Given the description of an element on the screen output the (x, y) to click on. 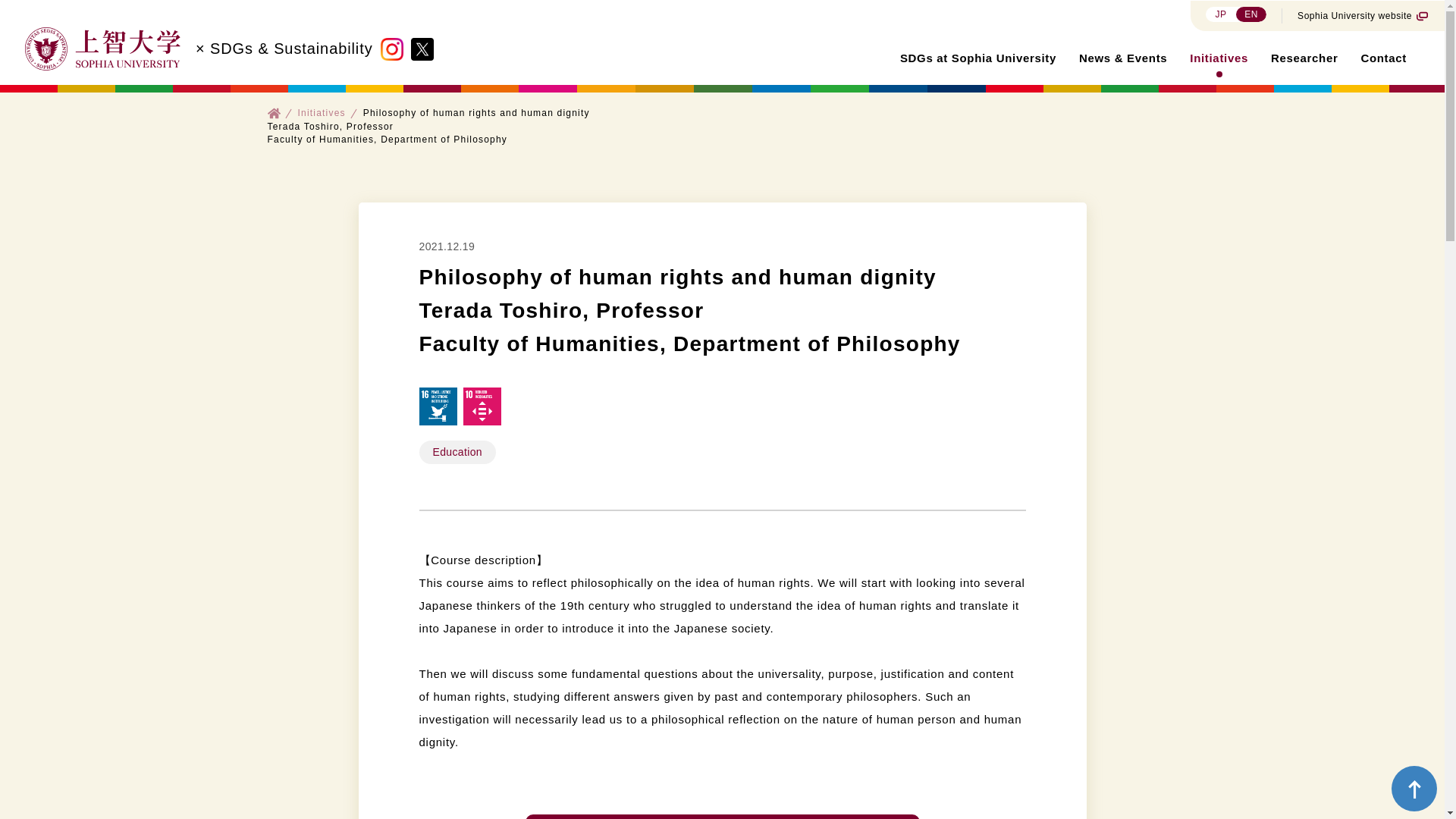
Initiatives (321, 112)
Sophia University website (1362, 15)
JP (1220, 14)
SDGs at Sophia University (978, 58)
EN (1251, 14)
Researcher (1304, 58)
Initiatives (1218, 58)
